Given the description of an element on the screen output the (x, y) to click on. 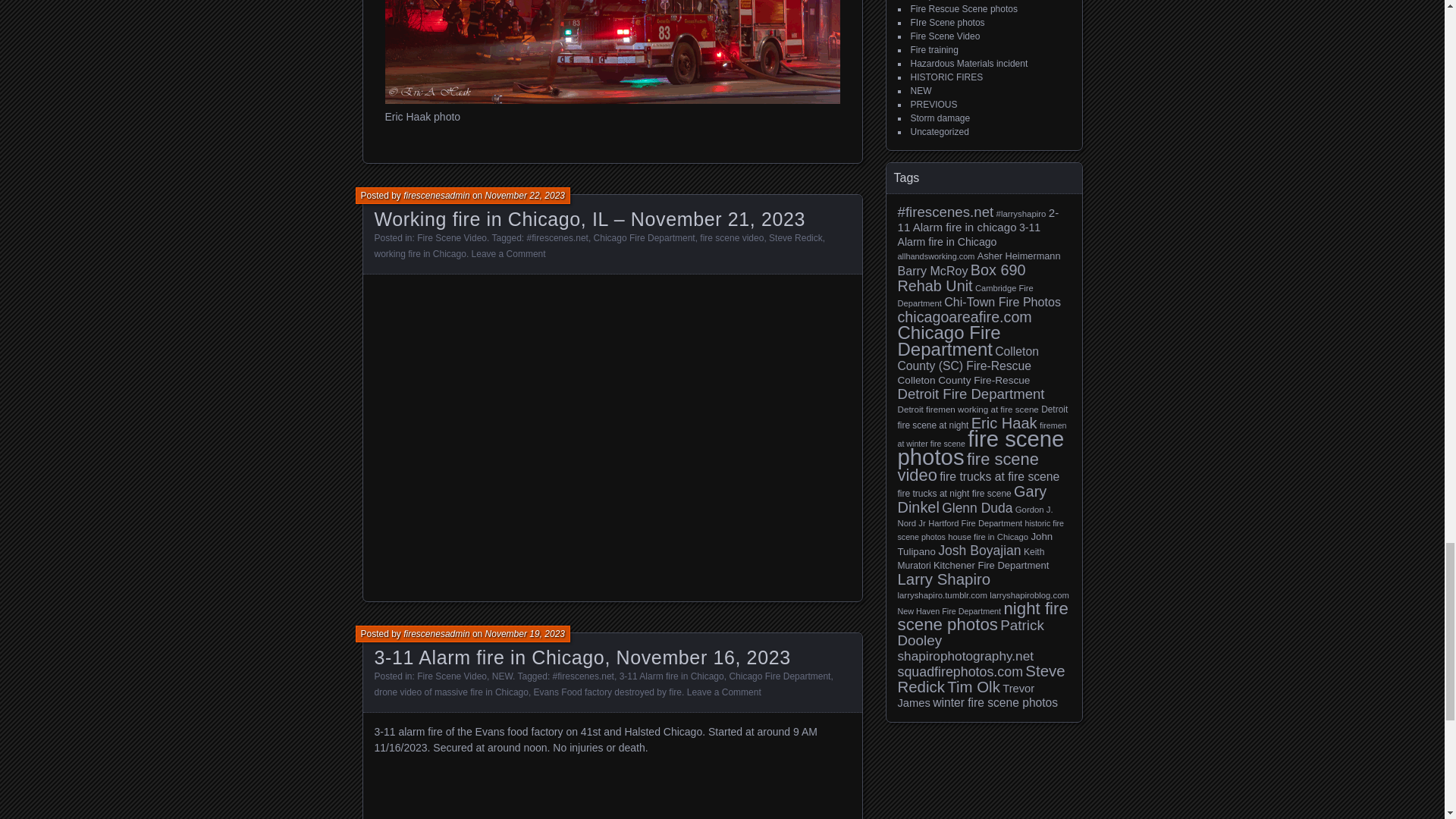
November 22, 2023 (524, 195)
Chicago Fire Department (644, 237)
November 19, 2023 (524, 633)
View all posts by firescenesadmin (435, 195)
Leave a Comment (508, 253)
firescenesadmin (435, 195)
firescenesadmin (435, 633)
3-11 Alarm fire in Chicago, November 16, 2023 (582, 657)
Fire Scene Video (451, 237)
fire scene video (731, 237)
View all posts by firescenesadmin (435, 633)
Steve Redick (795, 237)
working fire in Chicago (419, 253)
